Given the description of an element on the screen output the (x, y) to click on. 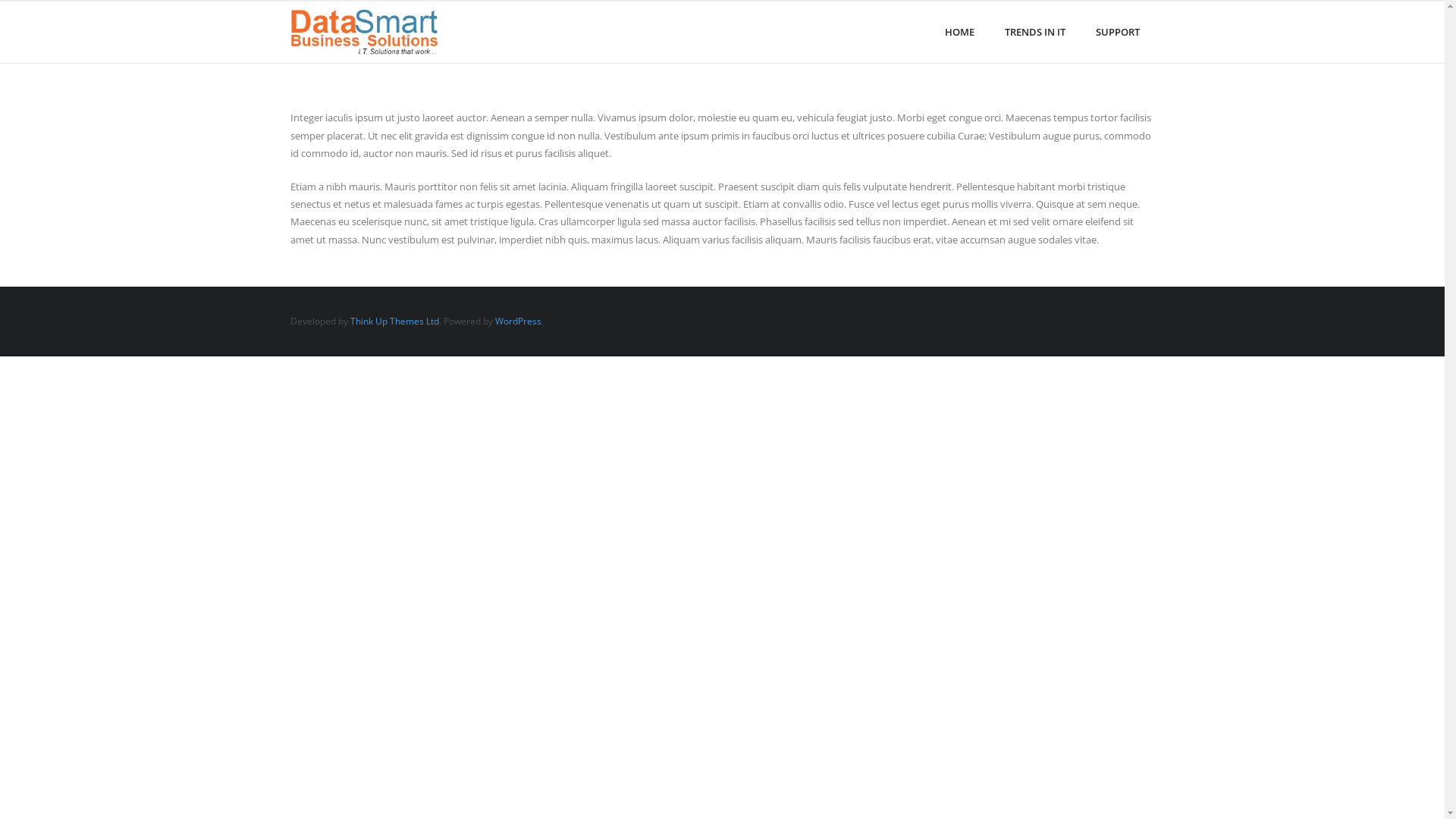
SUPPORT Element type: text (1116, 31)
HOME Element type: text (959, 31)
Think Up Themes Ltd Element type: text (394, 320)
TRENDS IN IT Element type: text (1033, 31)
WordPress Element type: text (517, 320)
